Given the description of an element on the screen output the (x, y) to click on. 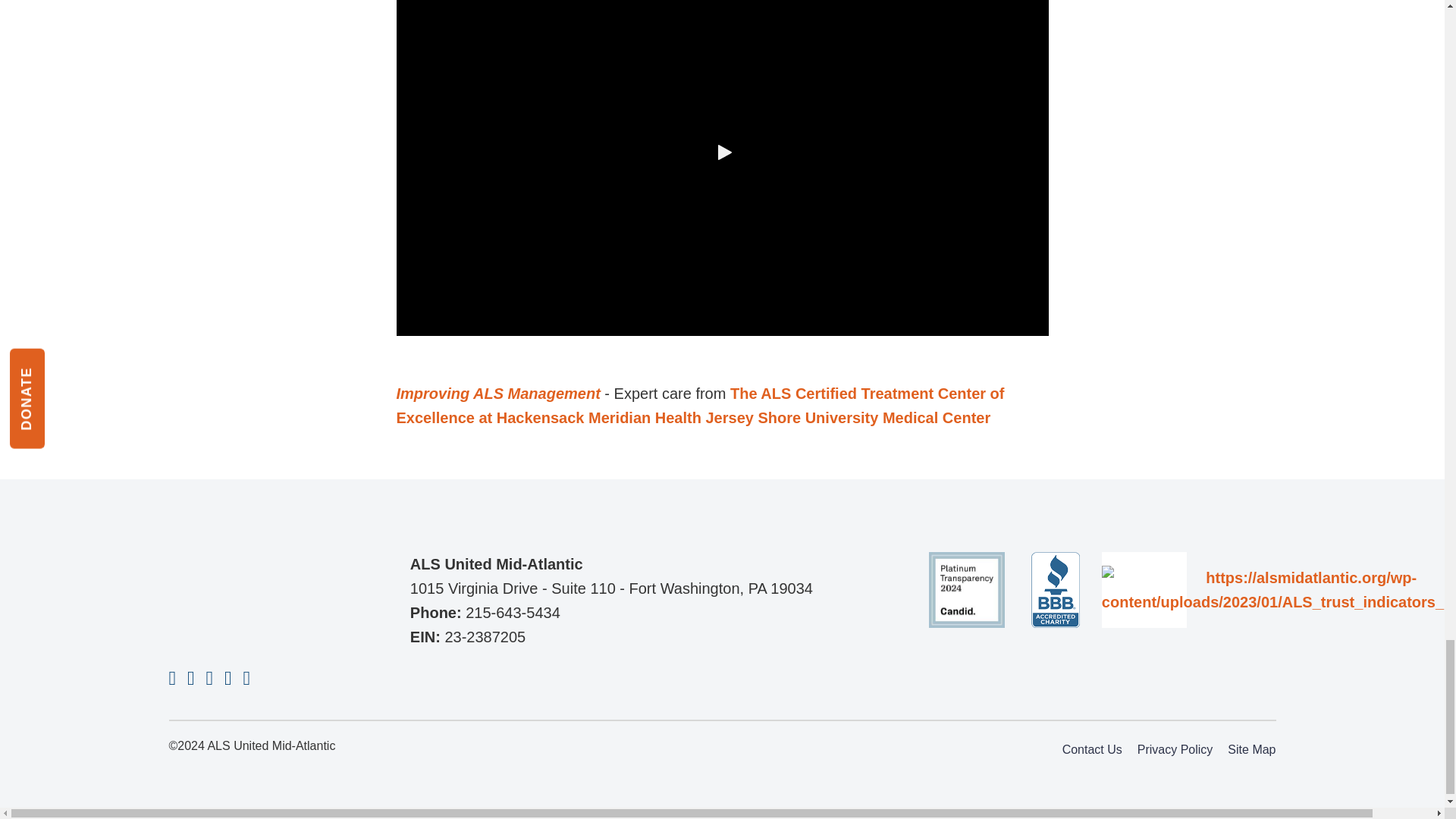
ALS United Mid-Atlantic (244, 592)
